Given the description of an element on the screen output the (x, y) to click on. 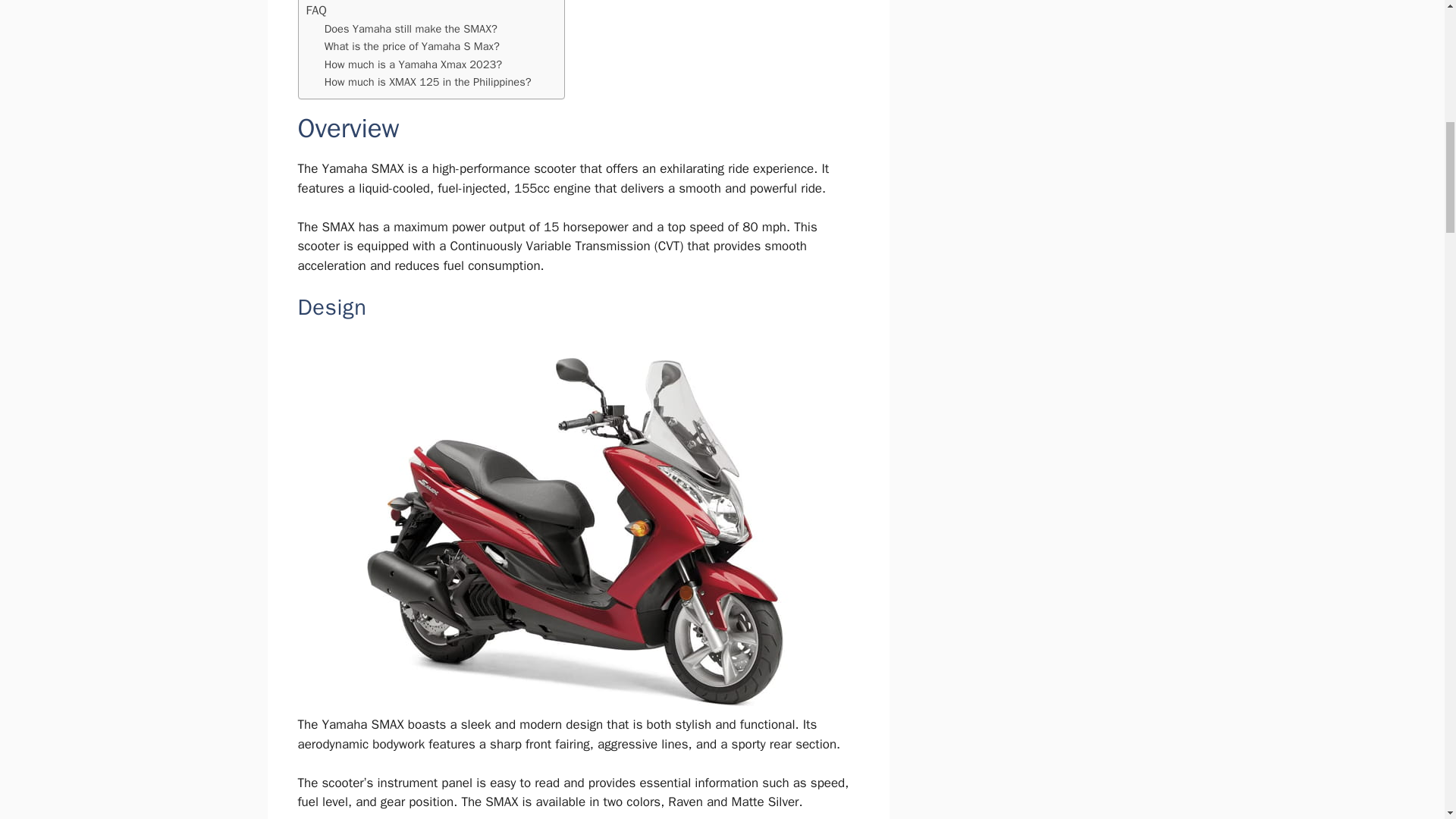
How much is a Yamaha Xmax 2023? (413, 64)
FAQ (315, 10)
What is the price of Yamaha S Max? (411, 46)
Does Yamaha still make the SMAX? (410, 28)
How much is XMAX 125 in the Philippines? (427, 81)
